Given the description of an element on the screen output the (x, y) to click on. 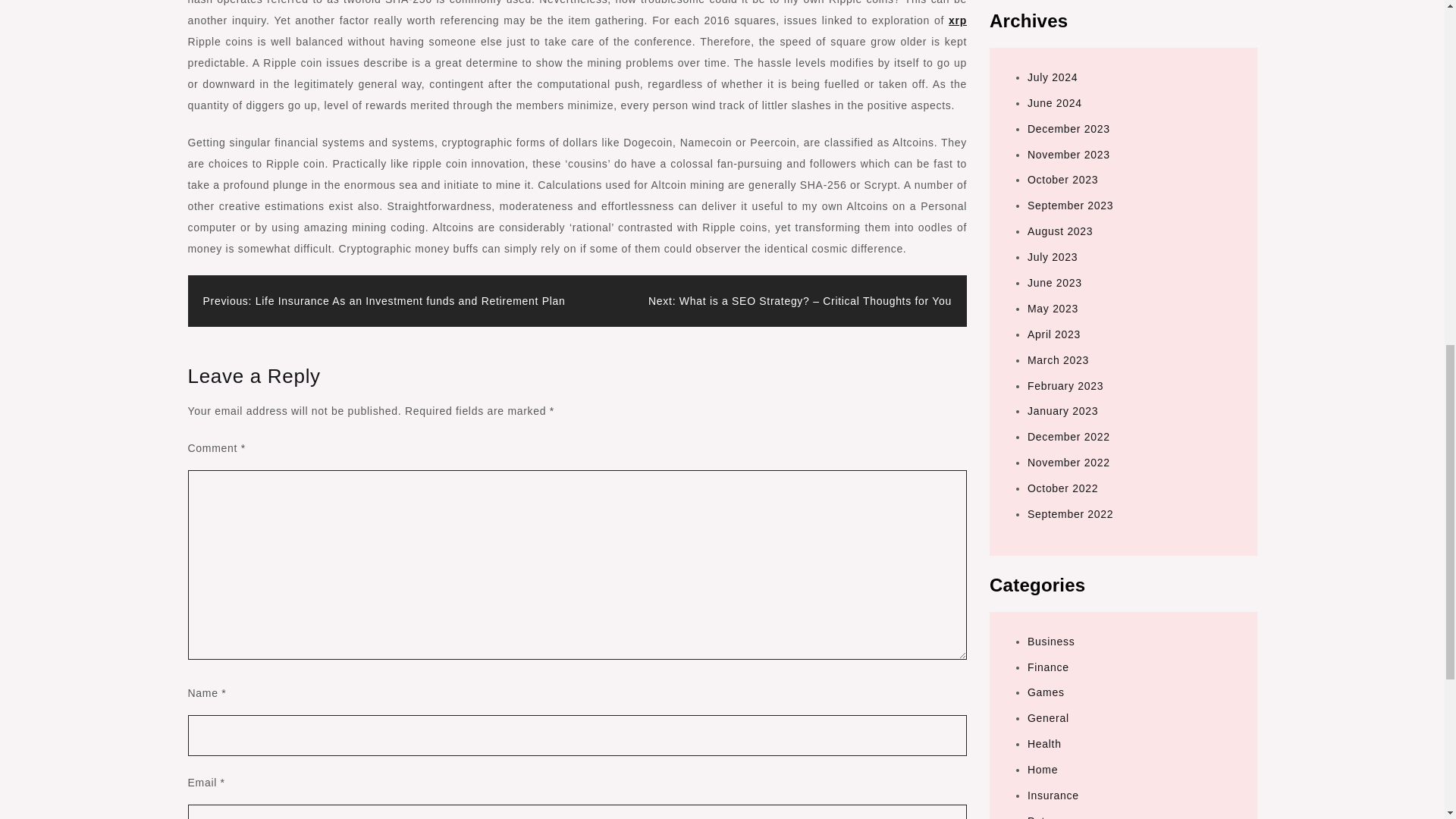
August 2023 (1060, 21)
January 2023 (1062, 201)
March 2023 (1058, 150)
September 2023 (1070, 1)
xrp (957, 20)
April 2023 (1053, 124)
February 2023 (1065, 176)
June 2023 (1054, 73)
July 2023 (1052, 47)
